Given the description of an element on the screen output the (x, y) to click on. 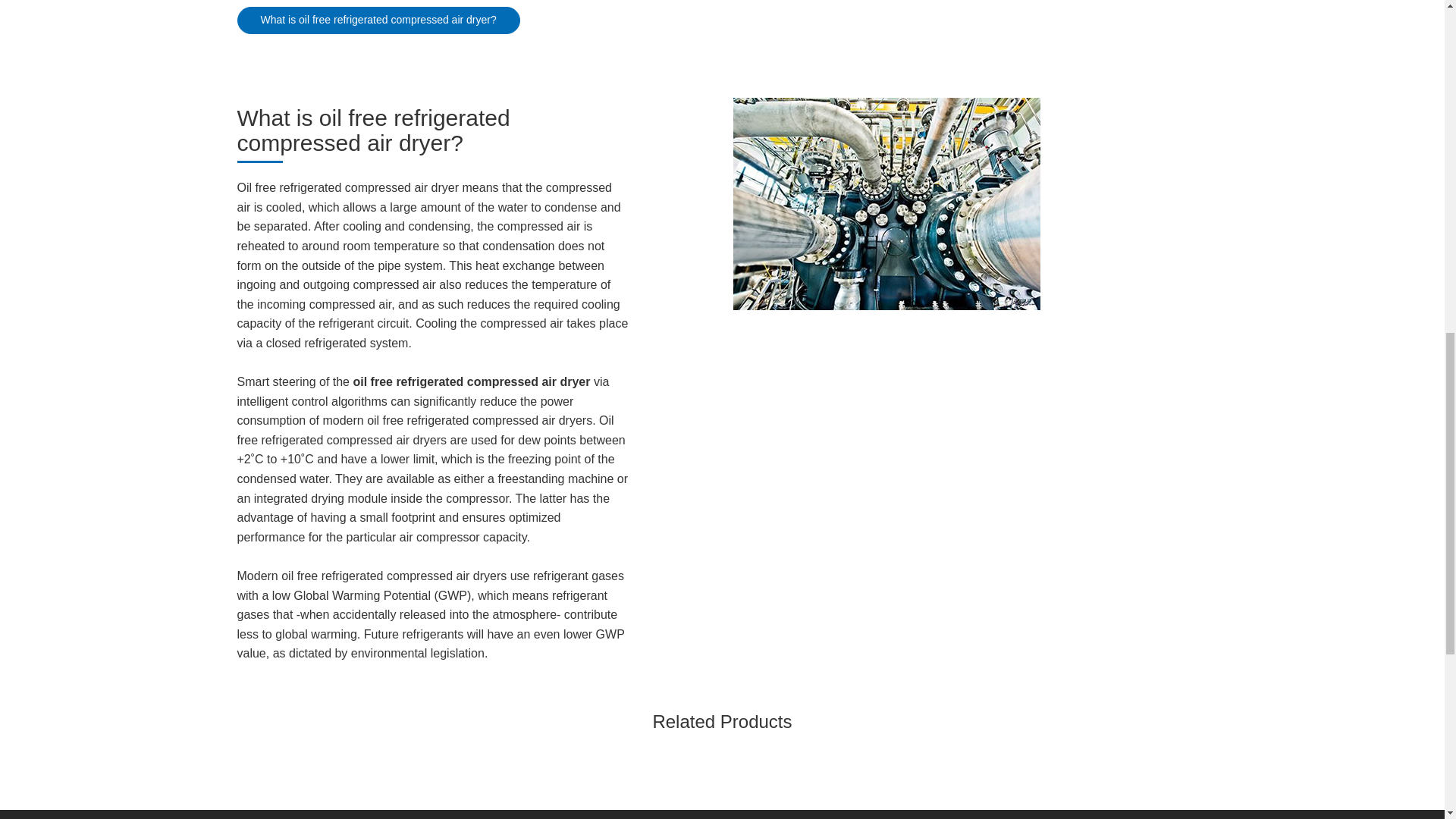
oil free refrigerated compressed air dryer (470, 381)
What is oil free refrigerated compressed air dryer? (377, 20)
